Given the description of an element on the screen output the (x, y) to click on. 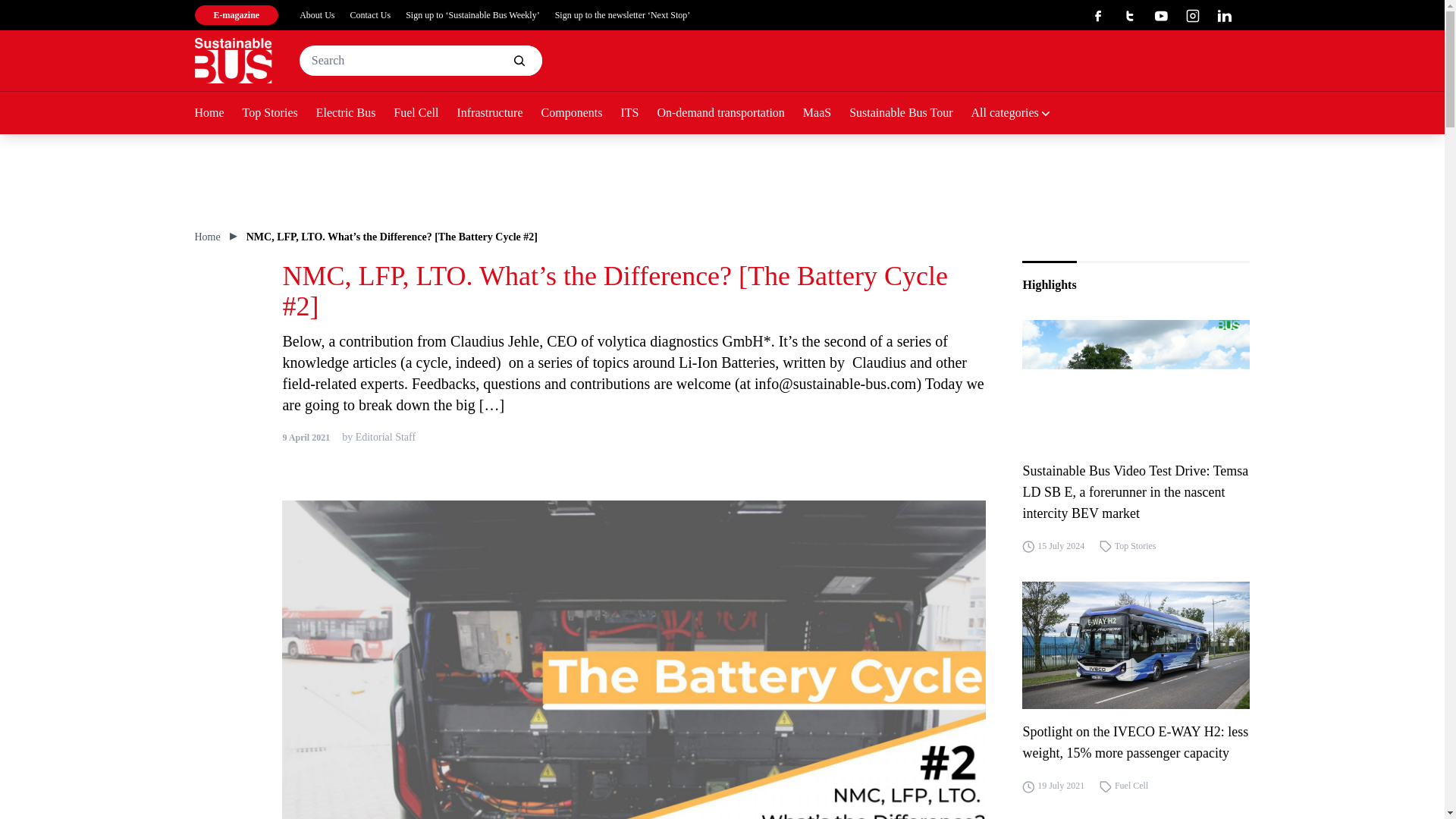
Contact Us (370, 14)
Sustainable Bus (231, 60)
Top Stories (279, 113)
Electric Bus (354, 113)
MaaS (825, 113)
Cerca: (420, 60)
Infrastructure (498, 113)
E-magazine (235, 14)
Sustainable Bus Tour (909, 113)
Components (581, 113)
About Us (316, 14)
Home (217, 113)
Fuel Cell (425, 113)
